Given the description of an element on the screen output the (x, y) to click on. 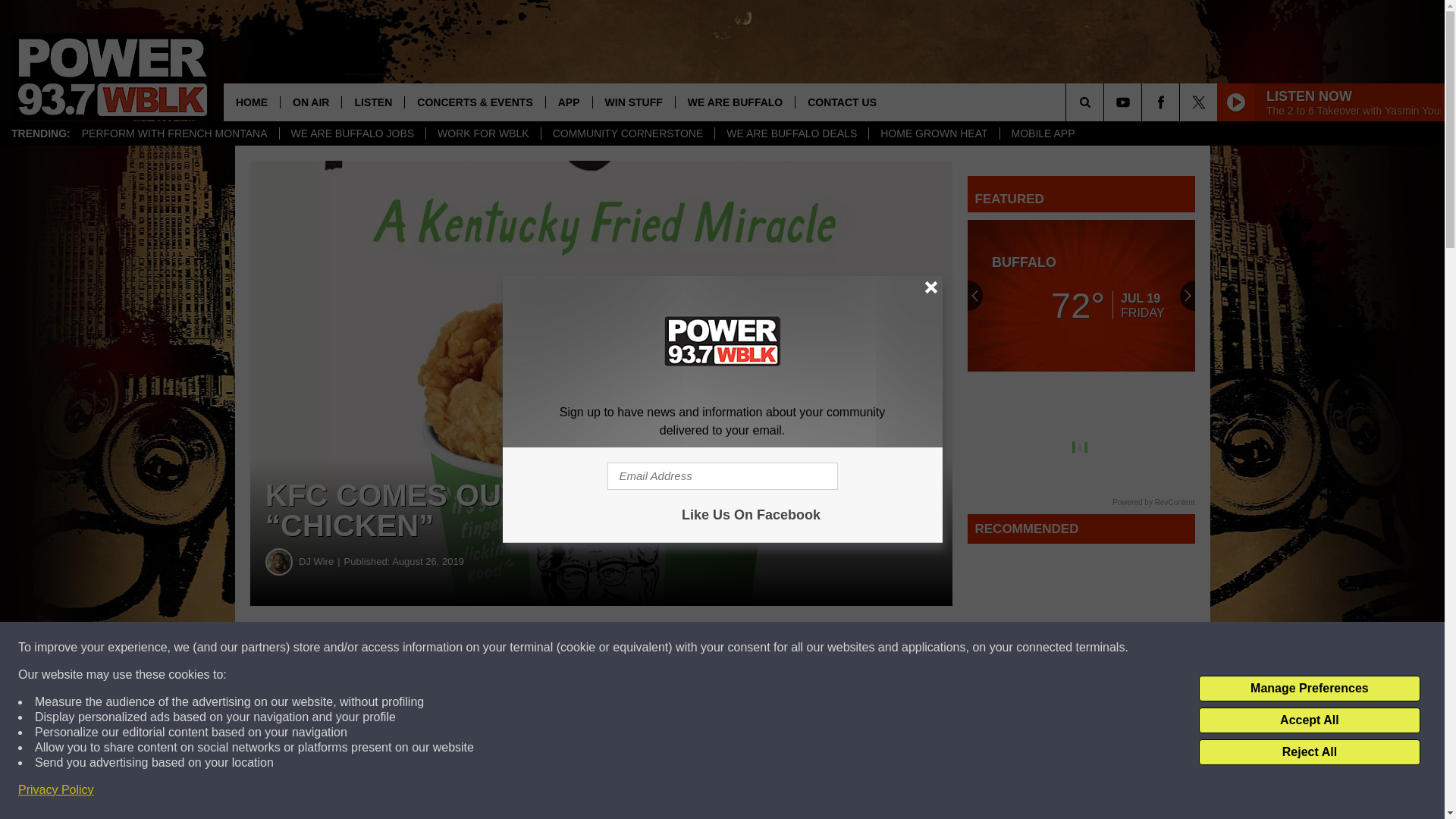
LISTEN (372, 102)
WE ARE BUFFALO DEALS (790, 133)
MOBILE APP (1042, 133)
COMMUNITY CORNERSTONE (627, 133)
Share on Twitter (741, 647)
PERFORM WITH FRENCH MONTANA (174, 133)
WE ARE BUFFALO (734, 102)
ON AIR (309, 102)
Manage Preferences (1309, 688)
HOME (251, 102)
WORK FOR WBLK (482, 133)
Privacy Policy (55, 789)
Accept All (1309, 720)
APP (568, 102)
Buffalo Weather (1081, 295)
